Given the description of an element on the screen output the (x, y) to click on. 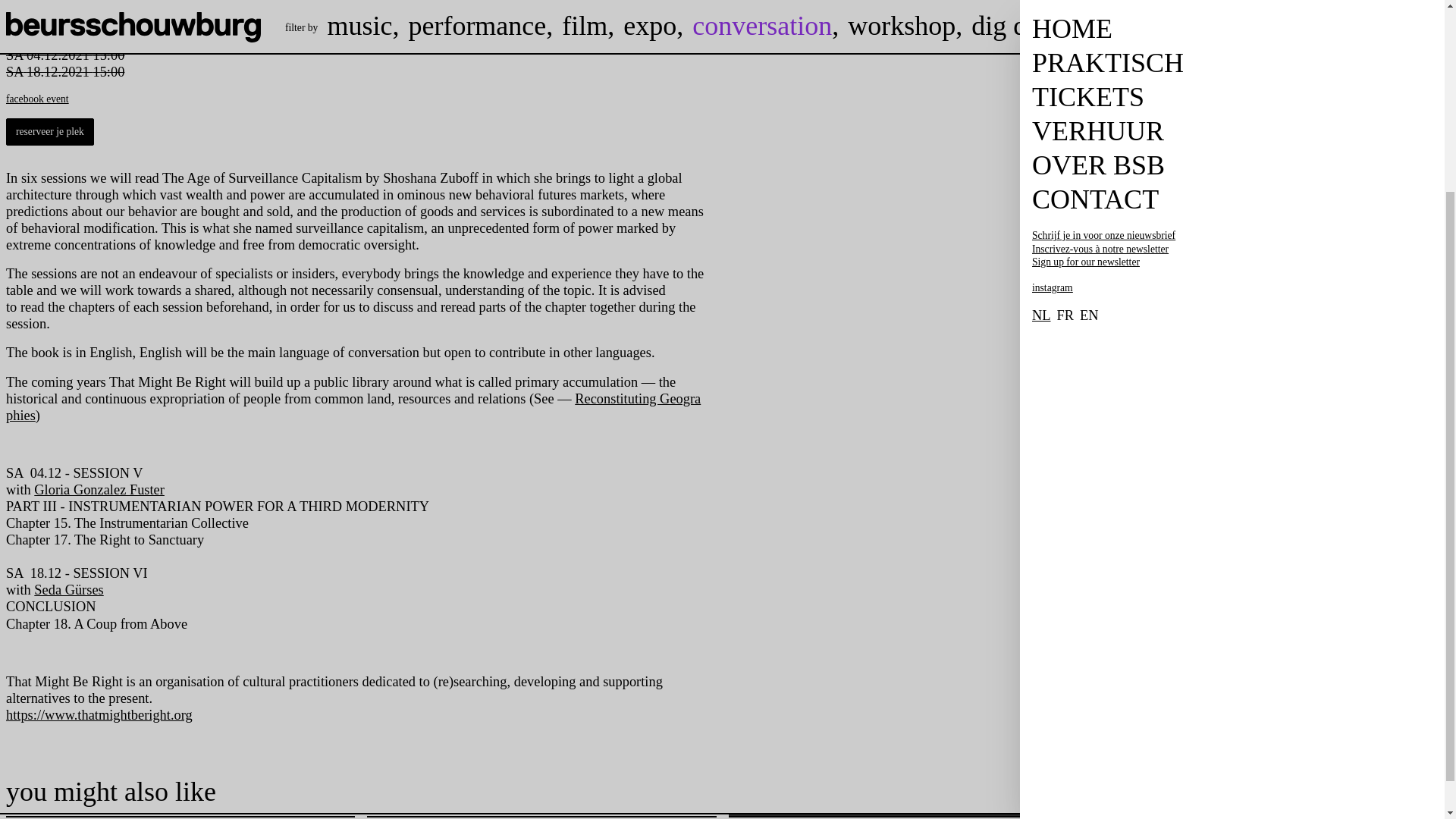
Reconstituting Geographies (352, 407)
EN (1089, 63)
instagram (1052, 35)
FR (1065, 63)
NL (1041, 63)
Gloria Gonzalez Fuster (98, 489)
Sign up for our newsletter (1153, 10)
reserveer je plek (49, 131)
facebook event (36, 98)
